Given the description of an element on the screen output the (x, y) to click on. 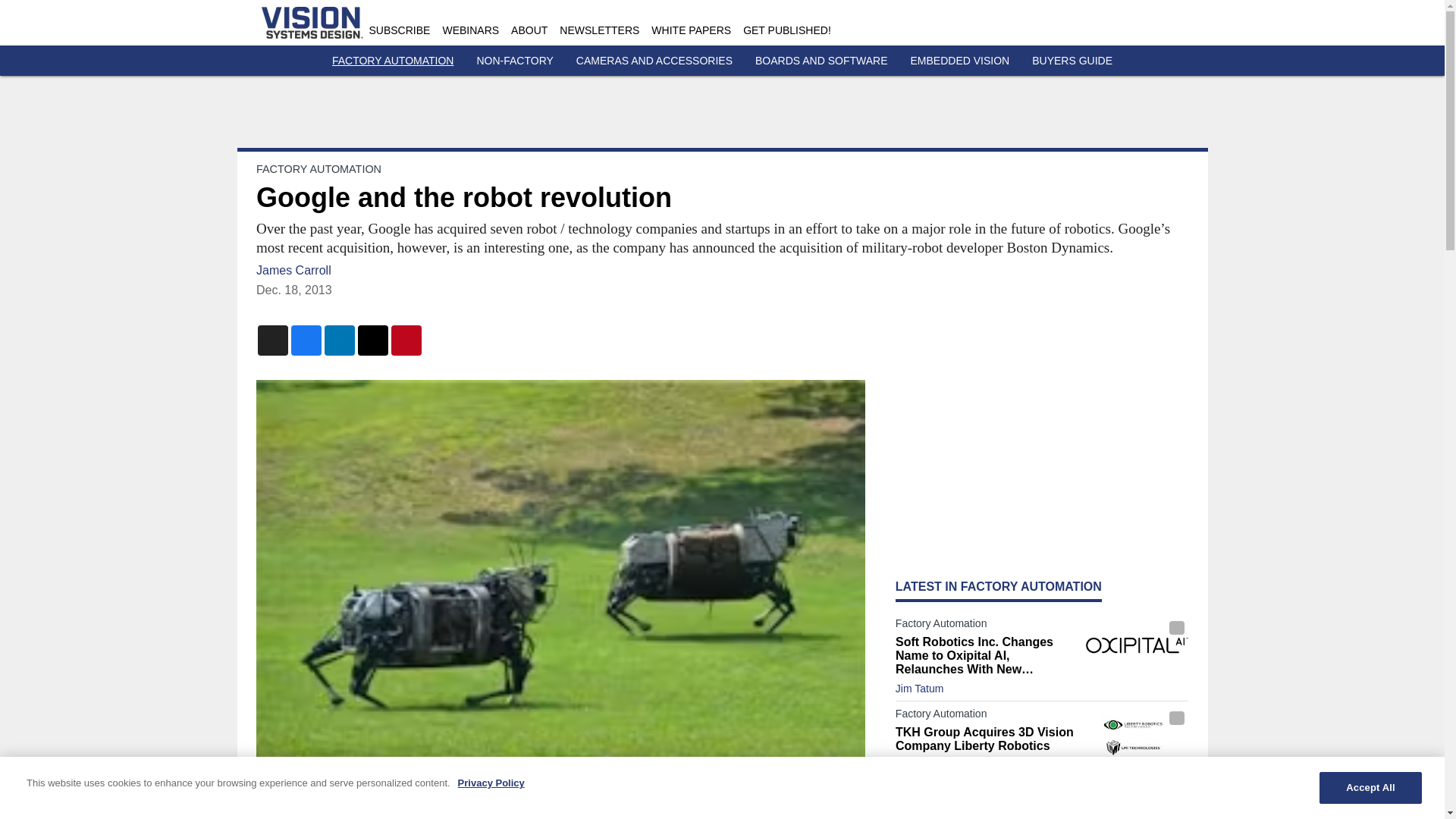
GET PUBLISHED! (786, 30)
NEWSLETTERS (599, 30)
SUBSCRIBE (398, 30)
NON-FACTORY (514, 60)
EMBEDDED VISION (960, 60)
WHITE PAPERS (690, 30)
ABOUT (529, 30)
WEBINARS (470, 30)
CAMERAS AND ACCESSORIES (654, 60)
